Given the description of an element on the screen output the (x, y) to click on. 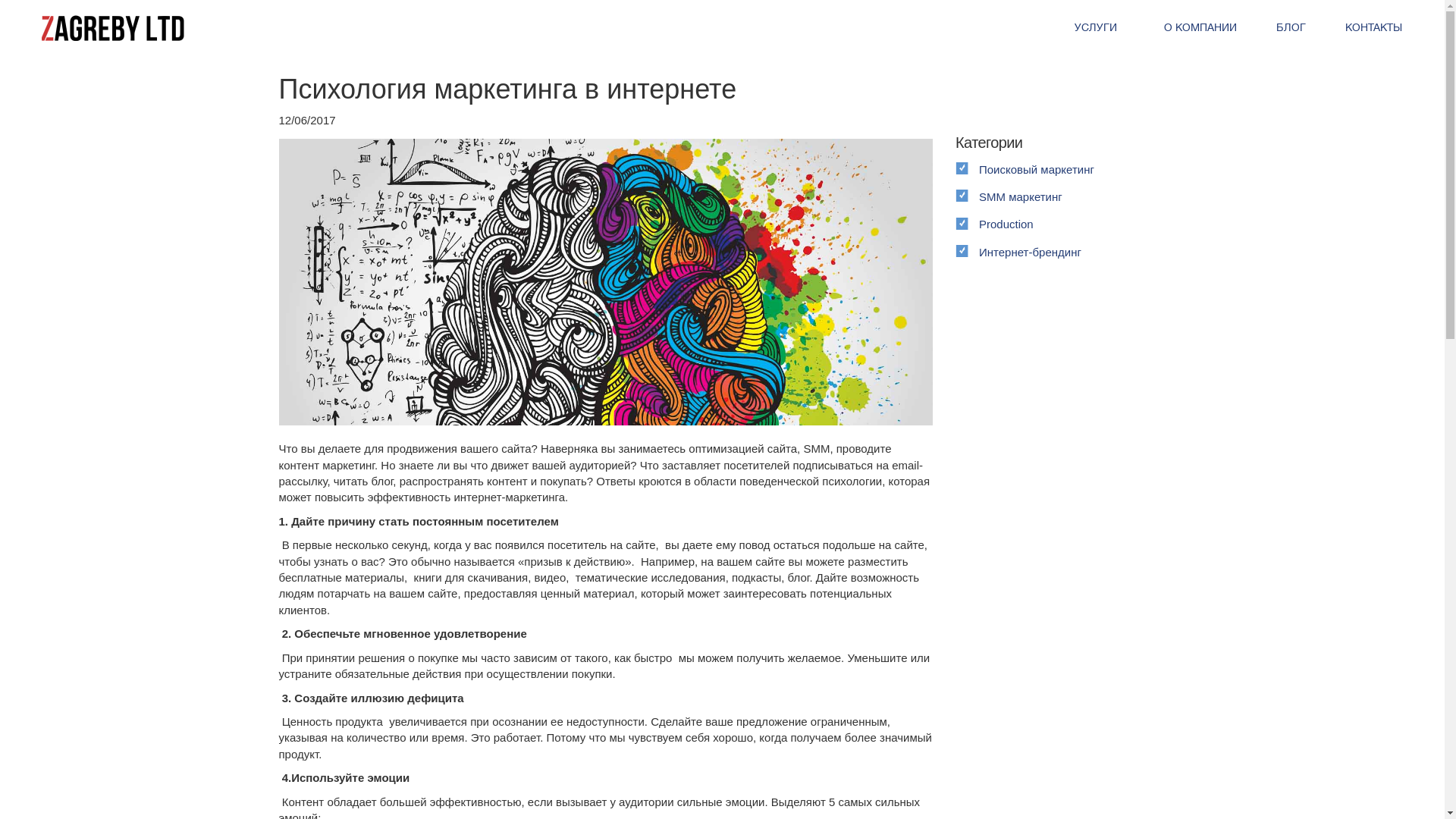
Production Element type: text (1060, 223)
